Given the description of an element on the screen output the (x, y) to click on. 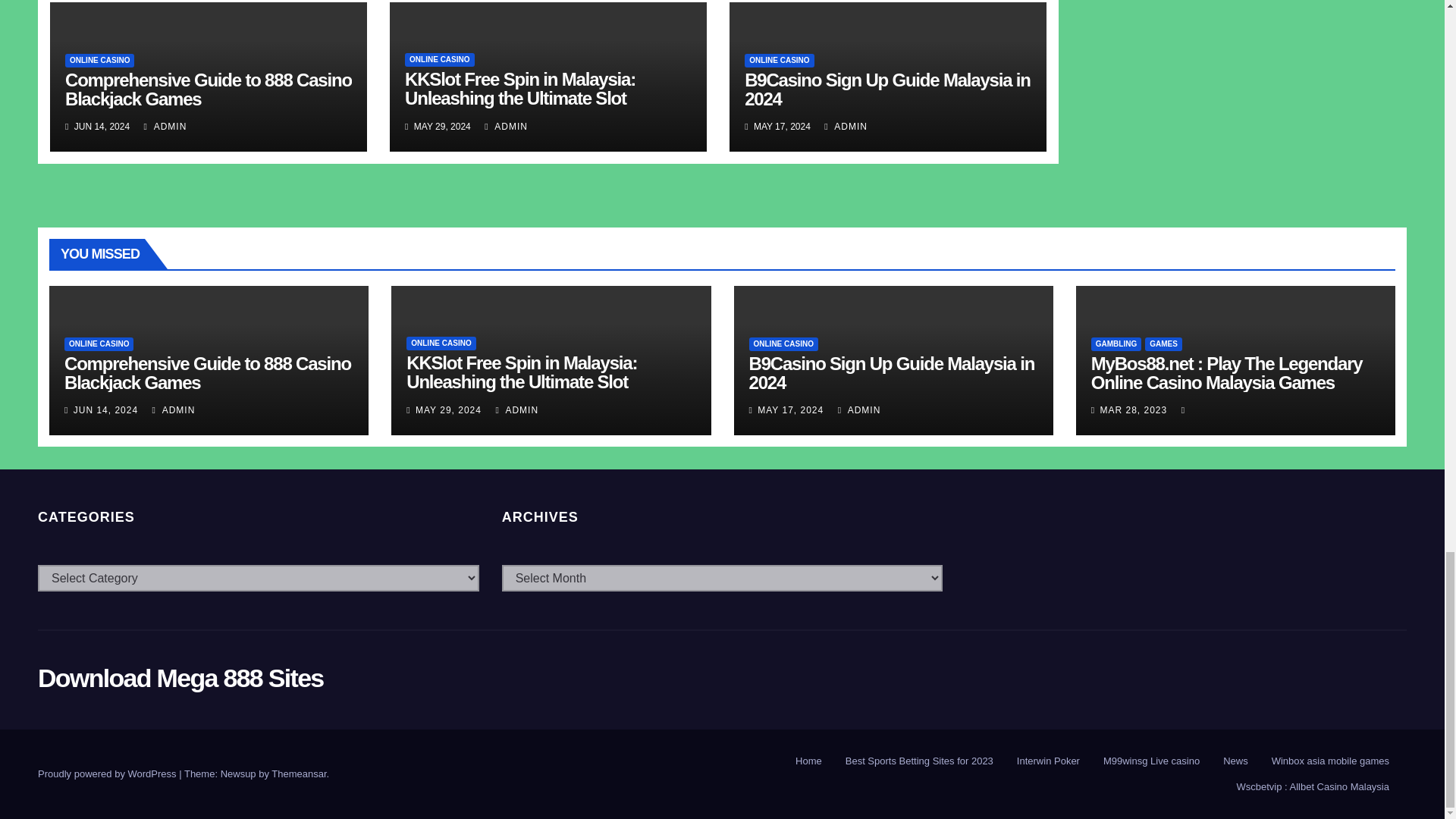
Home (808, 760)
Permalink to: B9Casino Sign Up Guide Malaysia in 2024 (887, 88)
Permalink to: B9Casino Sign Up Guide Malaysia in 2024 (892, 372)
